Given the description of an element on the screen output the (x, y) to click on. 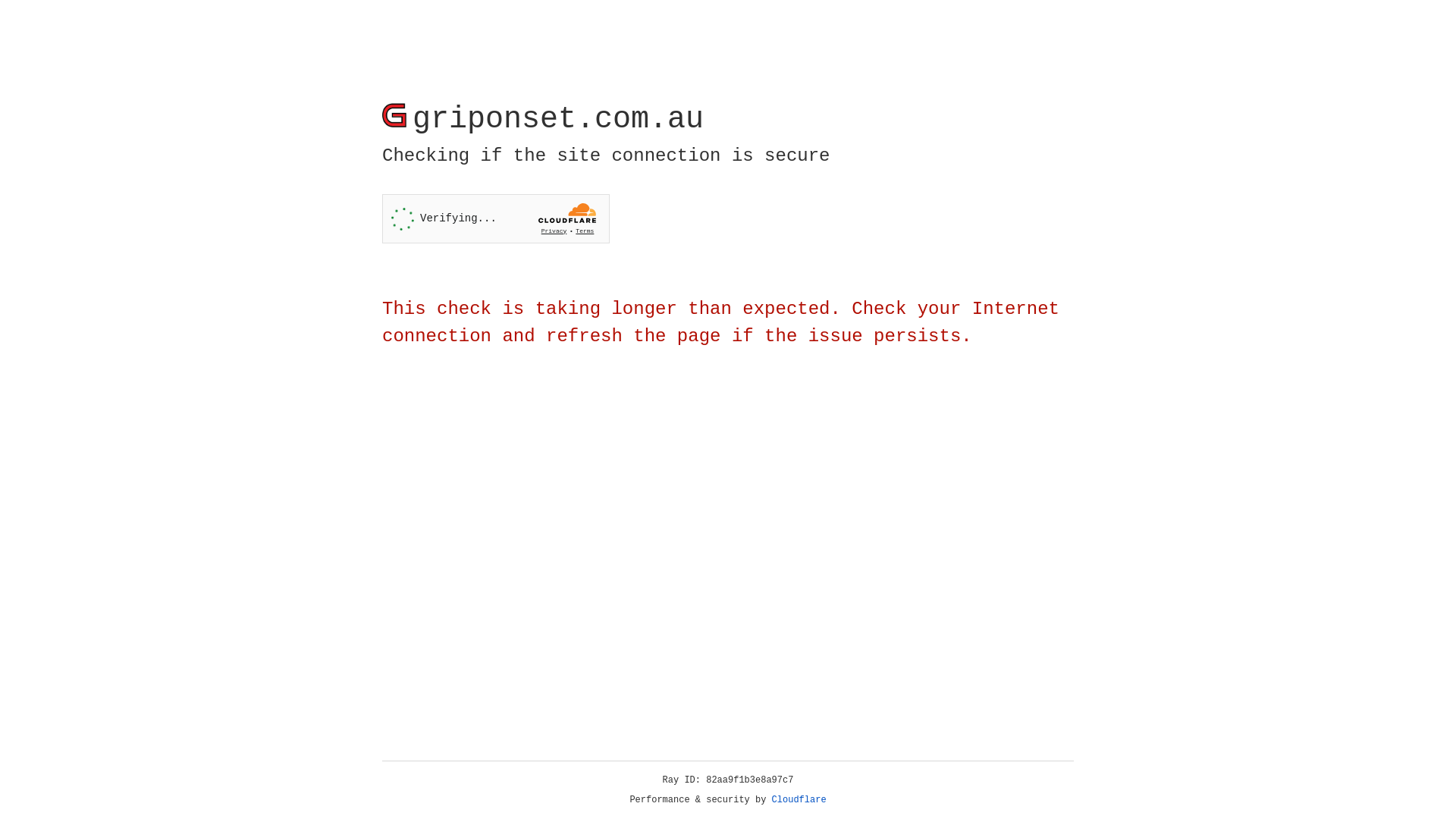
Widget containing a Cloudflare security challenge Element type: hover (495, 218)
Cloudflare Element type: text (798, 799)
